Given the description of an element on the screen output the (x, y) to click on. 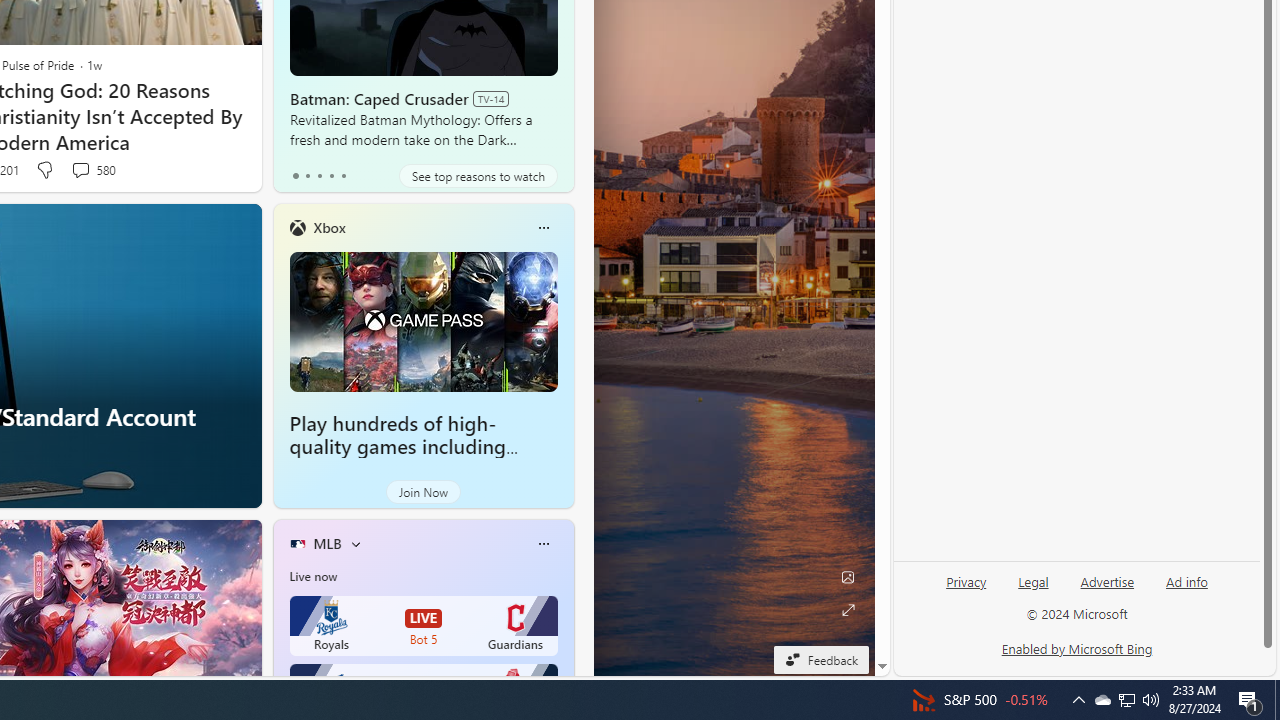
tab-2 (319, 175)
See top reasons to watch (478, 175)
tab-4 (342, 175)
Edit Background (847, 577)
View comments 580 Comment (80, 169)
MLB (327, 543)
